Given the description of an element on the screen output the (x, y) to click on. 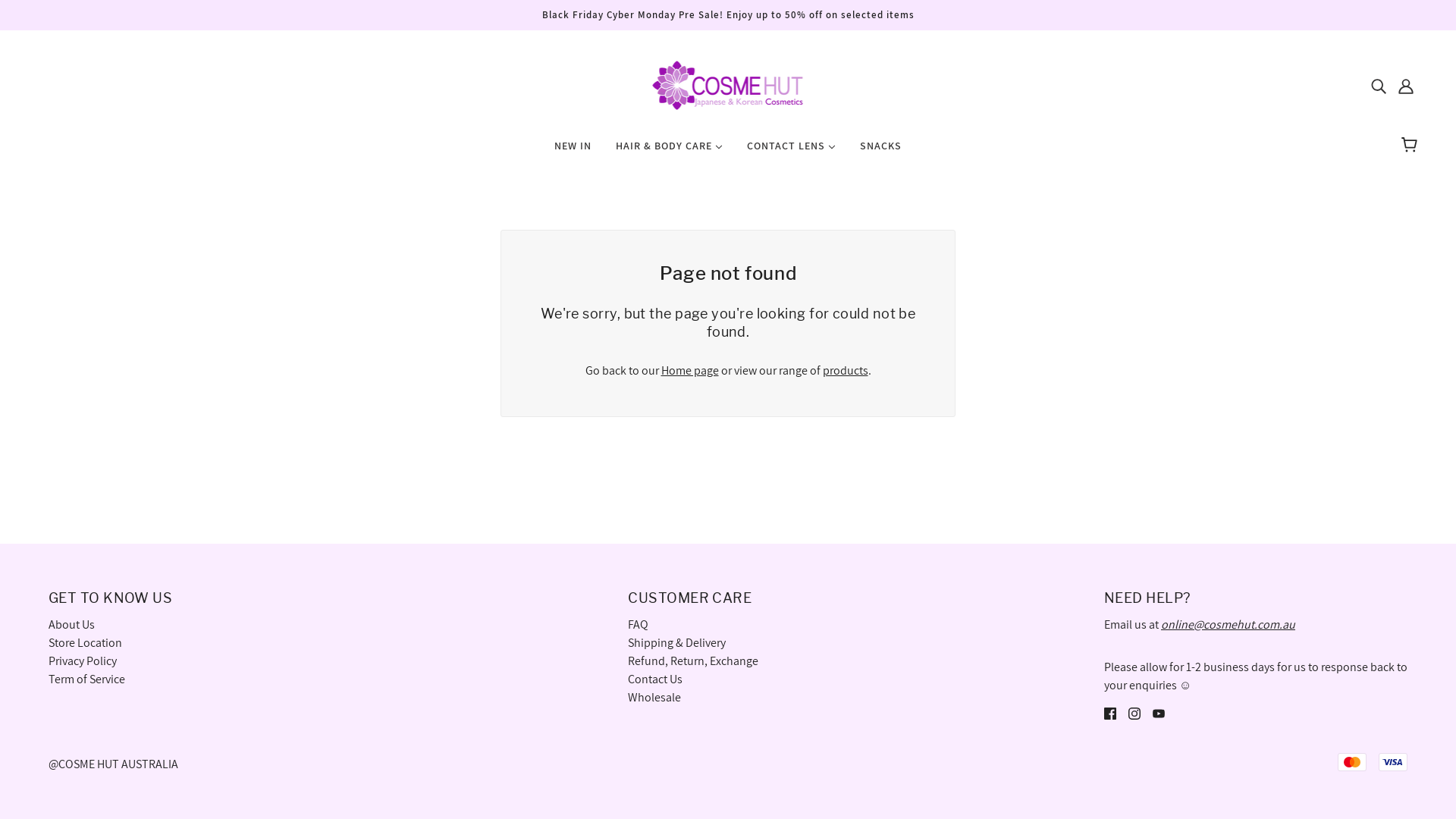
FAQ Element type: text (637, 624)
@COSME HUT AUSTRALIA Element type: text (113, 763)
Refund, Return, Exchange Element type: text (692, 660)
Shipping & Delivery Element type: text (676, 642)
Contact Us Element type: text (654, 679)
Wholesale Element type: text (653, 697)
SNACKS Element type: text (880, 151)
COSME HUT Element type: hover (727, 83)
Privacy Policy Element type: text (82, 660)
CONTACT LENS Element type: text (790, 151)
products Element type: text (844, 370)
Term of Service Element type: text (86, 679)
NEW IN Element type: text (572, 151)
Store Location Element type: text (85, 642)
Home page Element type: text (689, 370)
About Us Element type: text (71, 624)
online@cosmehut.com.au Element type: text (1228, 624)
HAIR & BODY CARE Element type: text (668, 151)
